Given the description of an element on the screen output the (x, y) to click on. 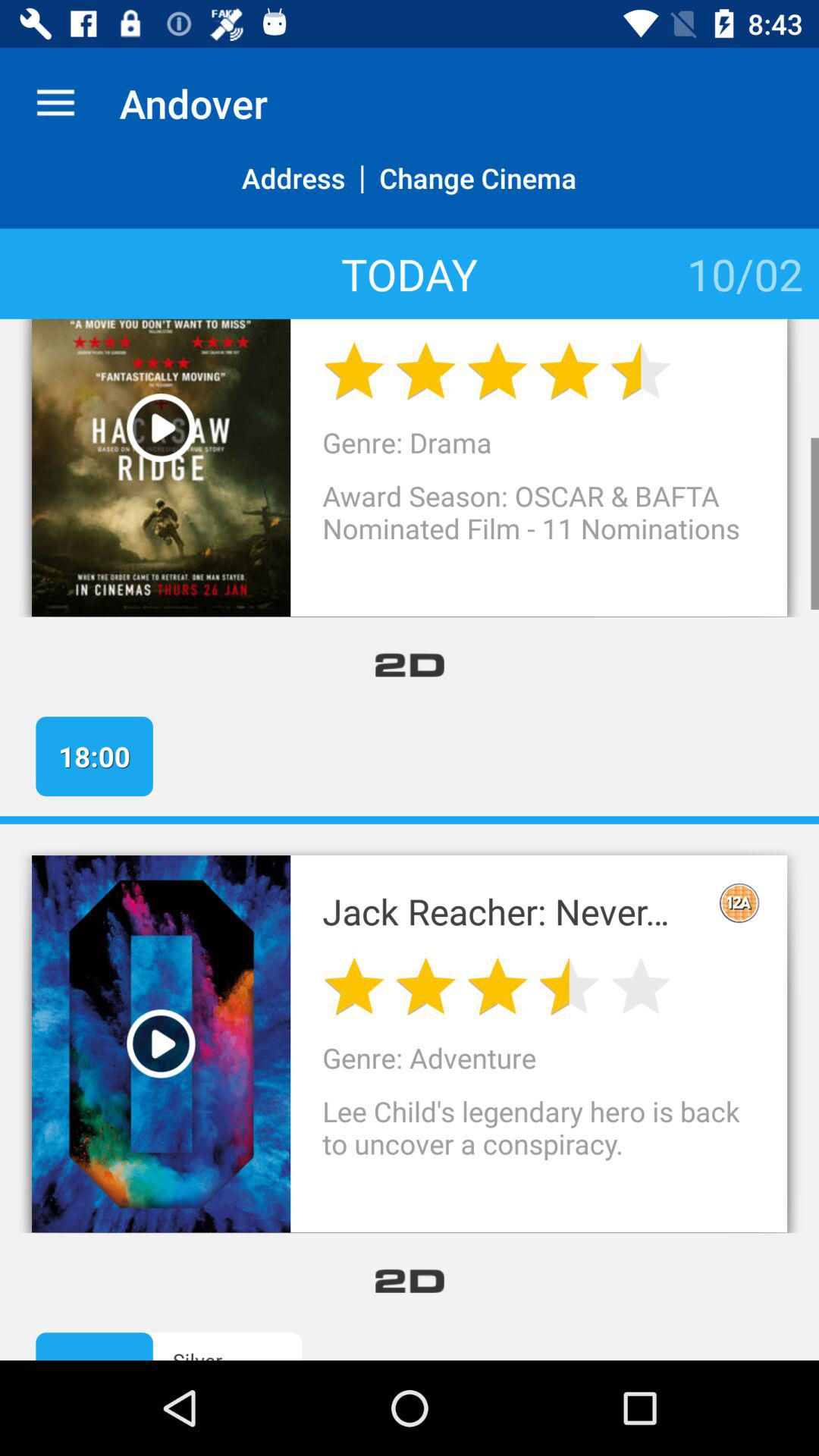
play (160, 427)
